Given the description of an element on the screen output the (x, y) to click on. 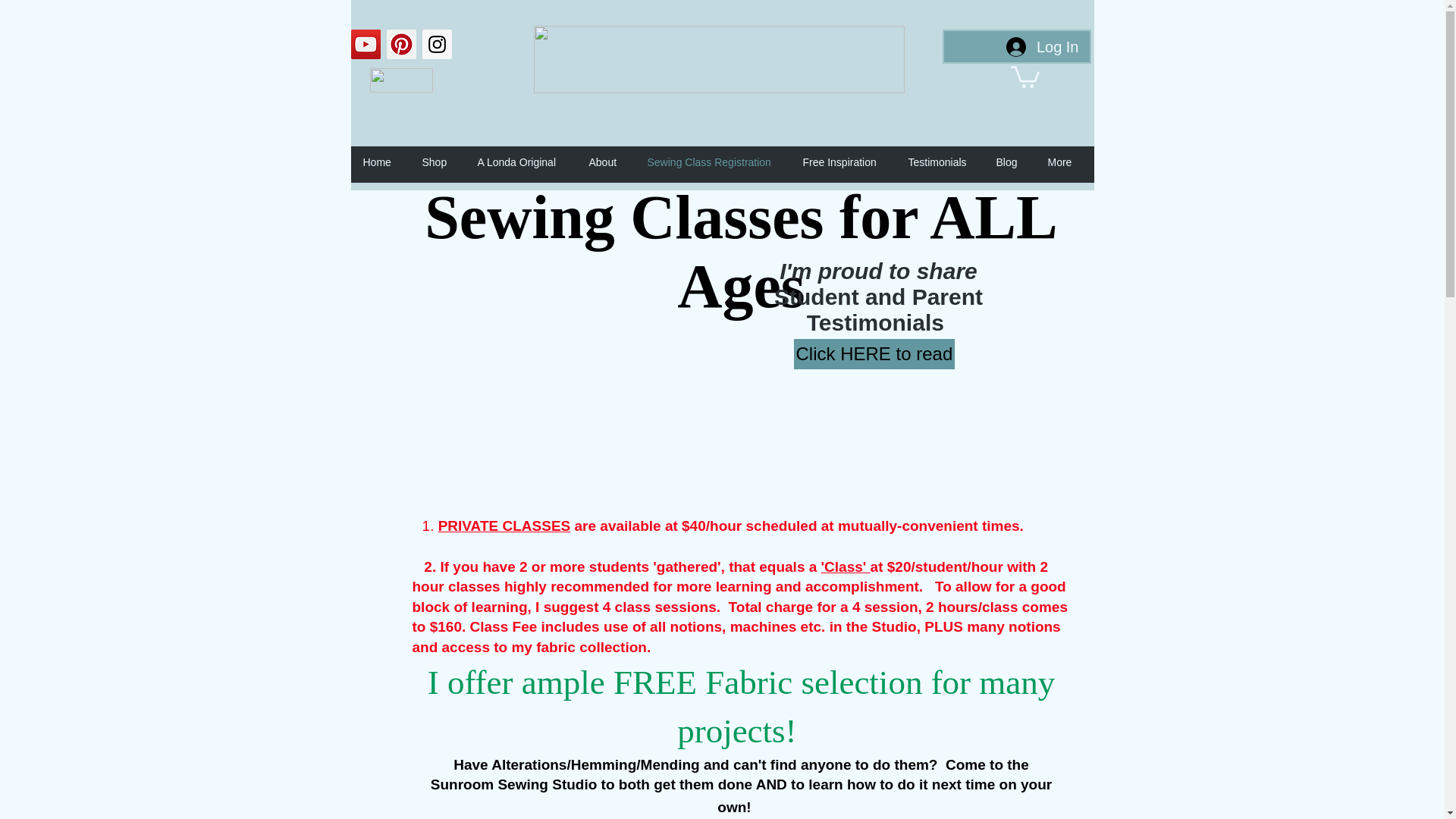
Home (384, 162)
Shop (440, 162)
Sewing Class Registration (717, 162)
A Londa Original (525, 162)
Testimonials (944, 162)
Log In (1042, 46)
Free Inspiration (846, 162)
3mewelogo.png (400, 79)
Blog (1014, 162)
Click HERE to read (874, 354)
